Given the description of an element on the screen output the (x, y) to click on. 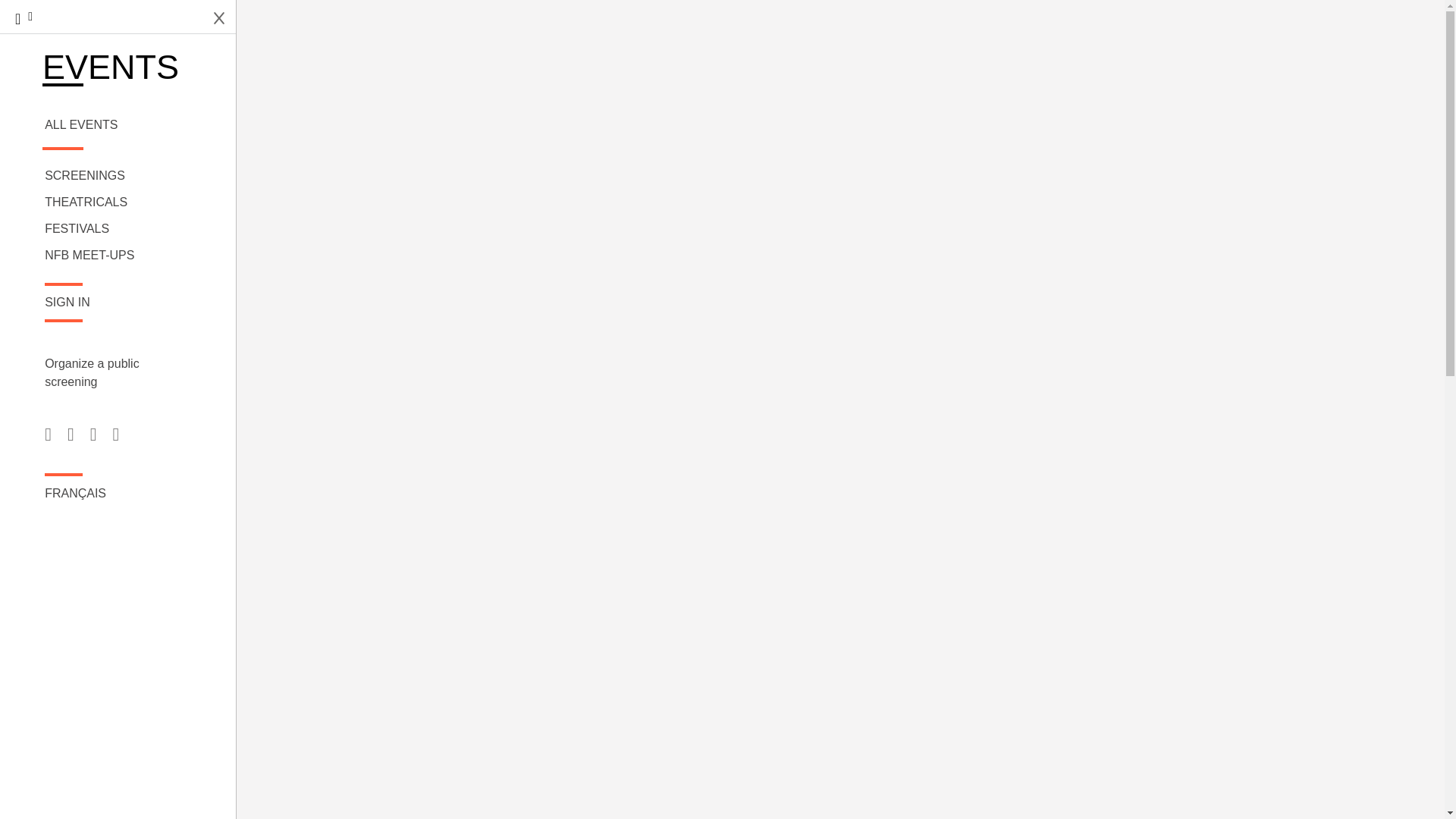
SCREENINGS (117, 176)
SIGN IN (117, 302)
ALL EVENTS (117, 125)
Organize a public screening (98, 372)
THEATRICALS (117, 202)
NFB MEET-UPS (117, 255)
EVENTS (117, 67)
FESTIVALS (117, 229)
Watch films on nfb.ca (23, 18)
